Given the description of an element on the screen output the (x, y) to click on. 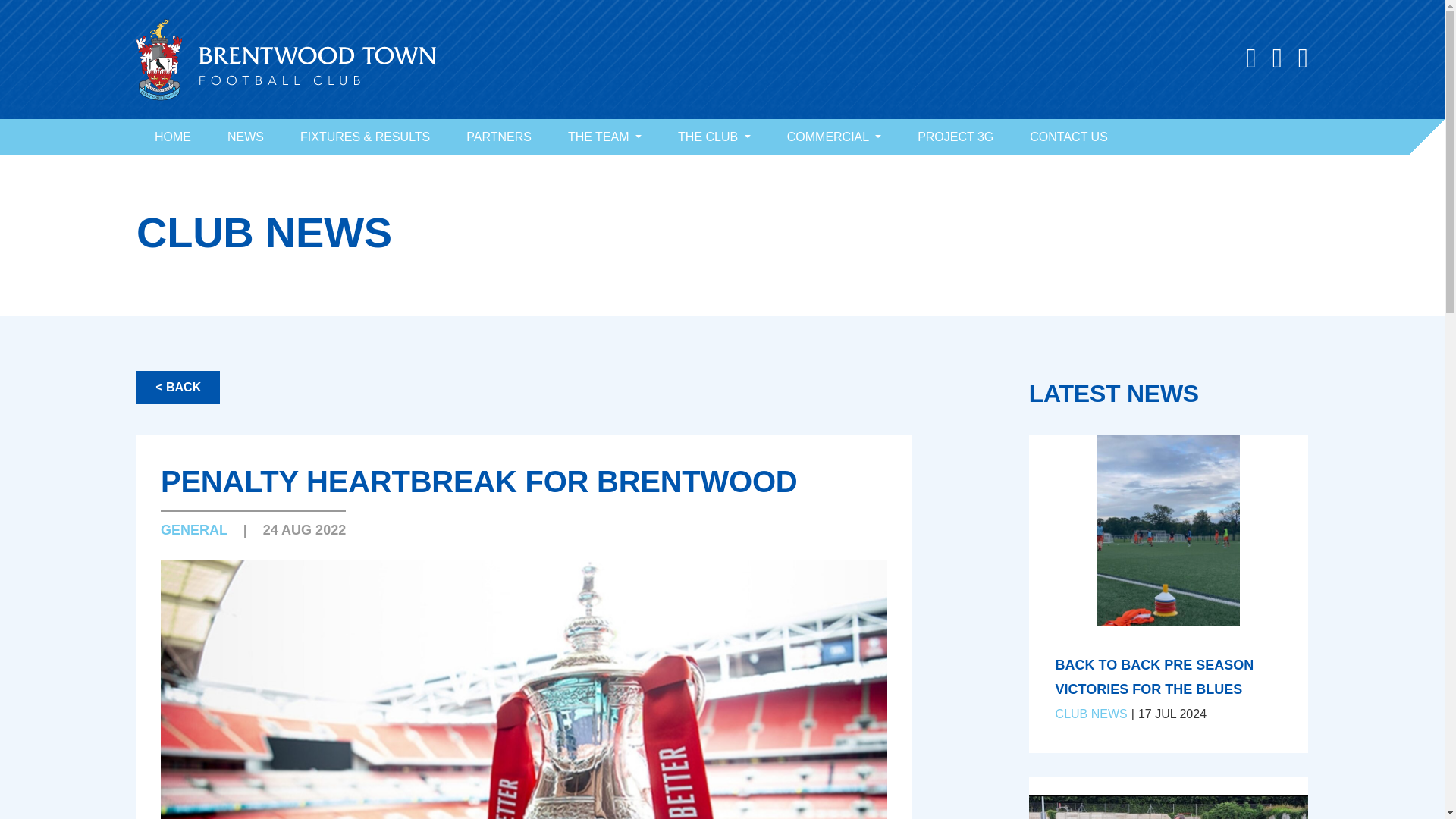
HOME (172, 136)
PARTNERS (499, 136)
COMMERCIAL (833, 136)
THE CLUB (713, 136)
CONTACT US (1068, 136)
THE TEAM (604, 136)
PROJECT 3G (955, 136)
NEWS (245, 136)
